Given the description of an element on the screen output the (x, y) to click on. 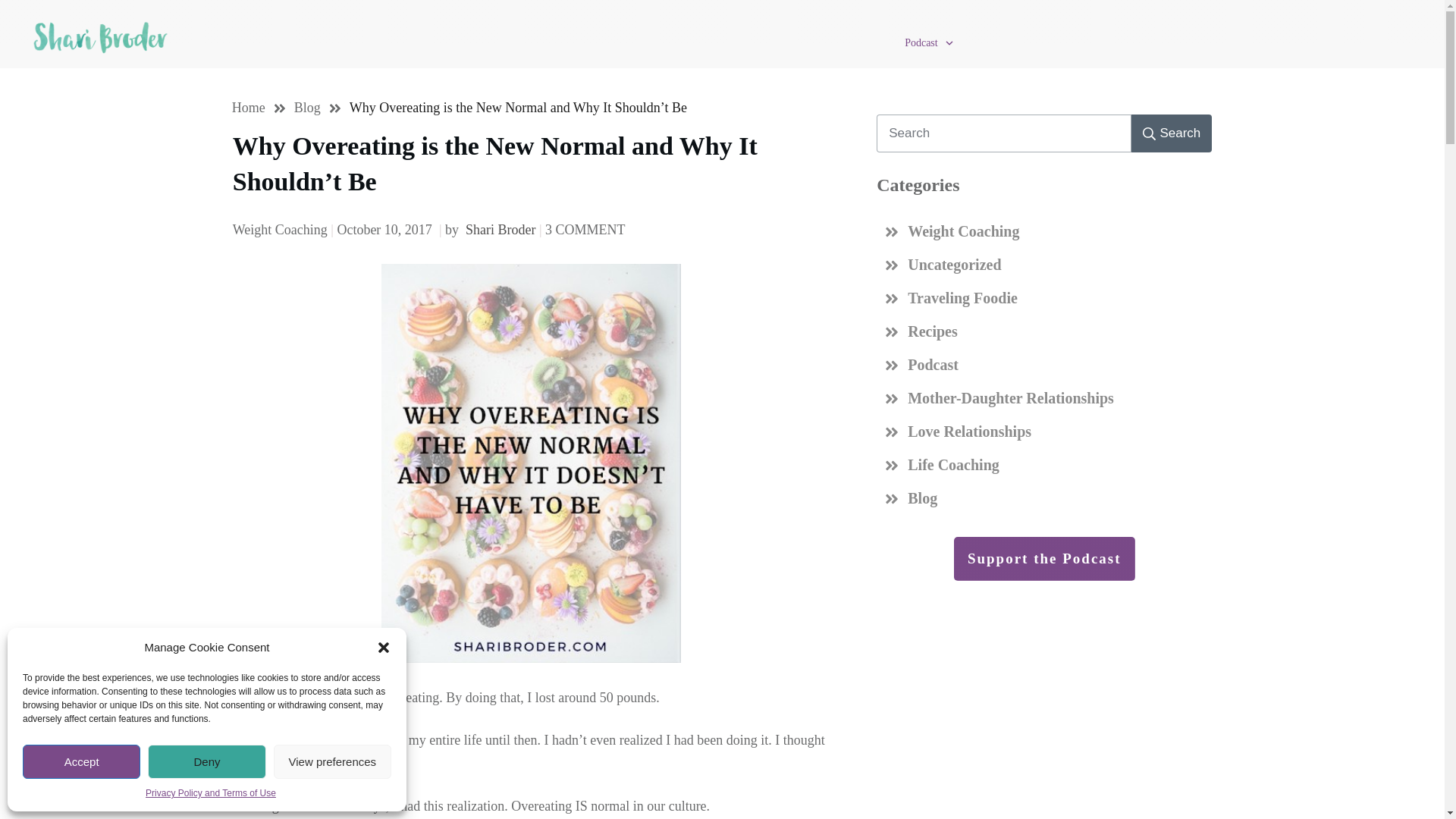
Podcast (929, 43)
Blog (307, 107)
logo (98, 37)
View preferences (332, 761)
Accept (81, 761)
Deny (206, 761)
Privacy Policy and Terms of Use (210, 793)
Home (247, 107)
